Given the description of an element on the screen output the (x, y) to click on. 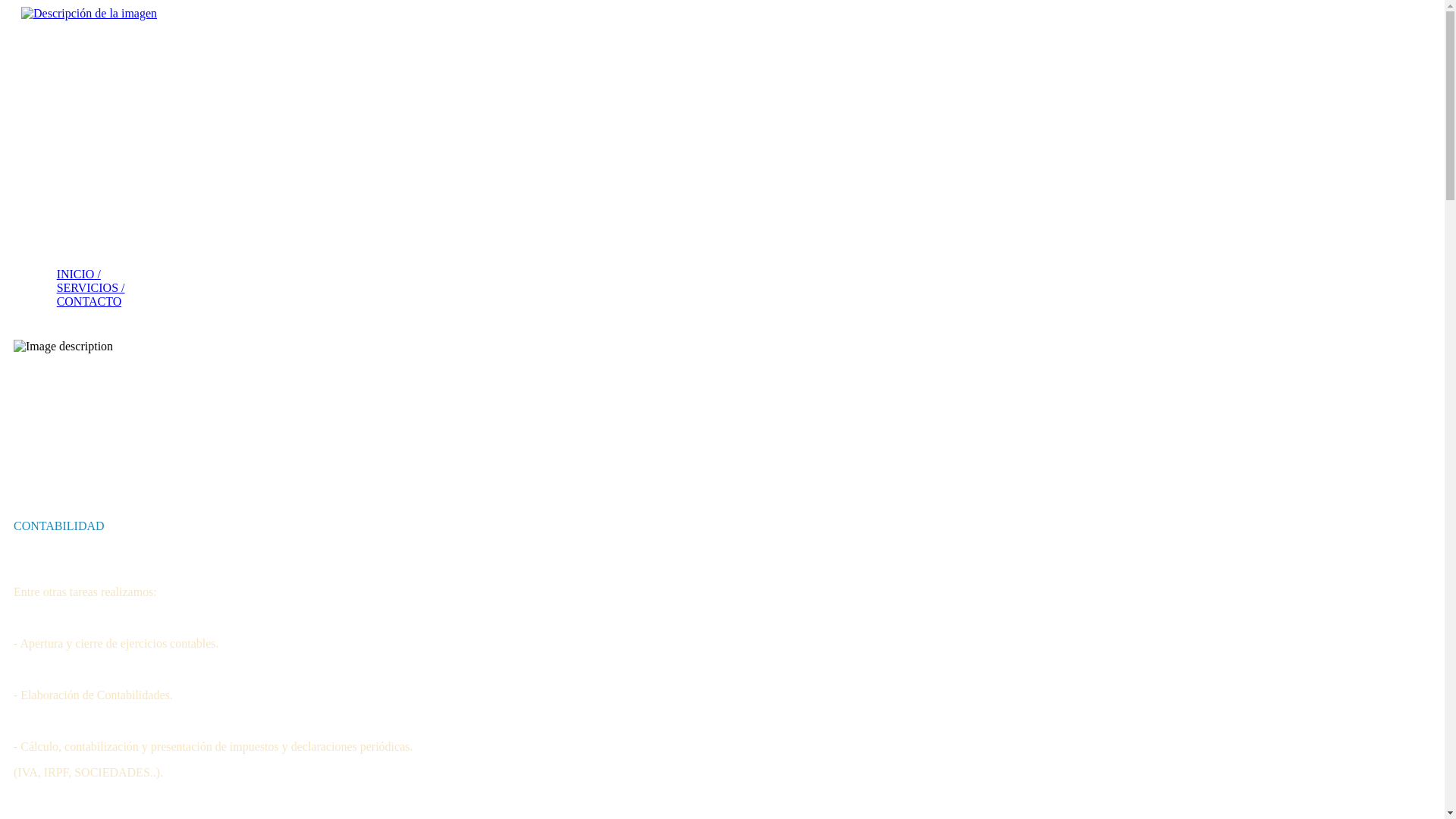
CONTACTO Element type: text (89, 300)
INICIO / Element type: text (78, 273)
SERVICIOS / Element type: text (90, 287)
